Given the description of an element on the screen output the (x, y) to click on. 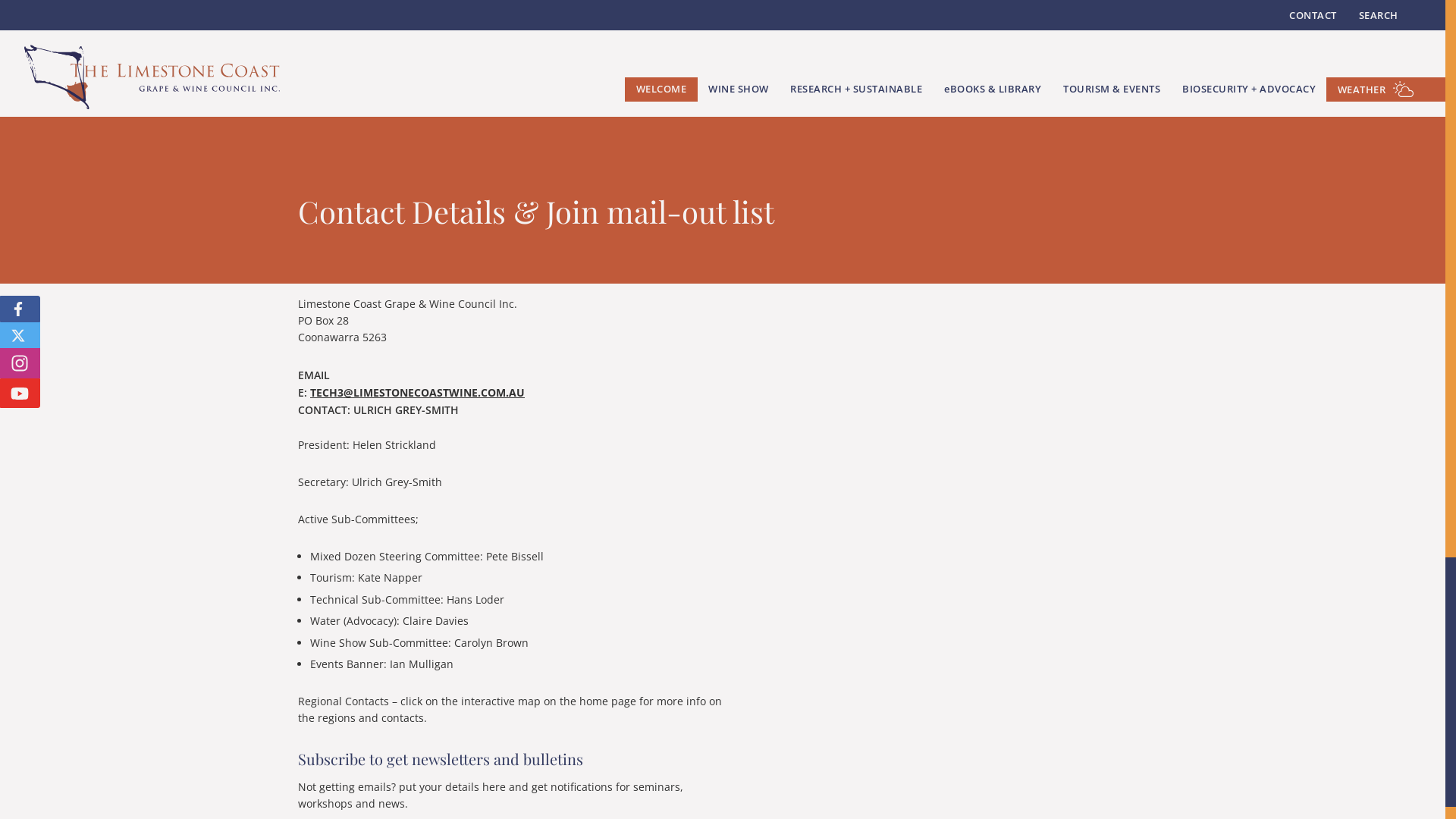
RESEARCH + SUSTAINABLE Element type: text (856, 89)
FOLLOW US ON FACEBOOK Element type: text (20, 308)
WELCOME Element type: text (660, 89)
FOLLOW US ON YOUTUBE Element type: text (20, 392)
CONTACT Element type: text (1312, 15)
SEARCH Element type: text (1377, 15)
BIOSECURITY + ADVOCACY Element type: text (1249, 89)
EBOOKS & LIBRARY Element type: text (992, 89)
TOURISM & EVENTS Element type: text (1111, 89)
WINE SHOW Element type: text (738, 89)
TECH3@LIMESTONECOASTWINE.COM.AU Element type: text (417, 392)
FOLLOW US ON X Element type: text (20, 335)
FOLLOW US ON INSTAGRAM Element type: text (20, 363)
WEATHER Element type: text (1385, 89)
